Given the description of an element on the screen output the (x, y) to click on. 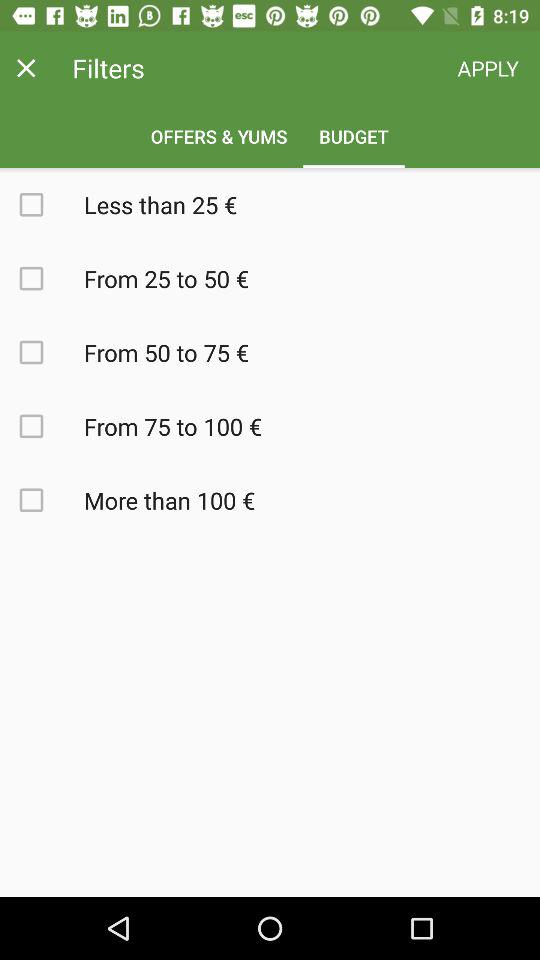
25 to 50 euro selection box (41, 278)
